Given the description of an element on the screen output the (x, y) to click on. 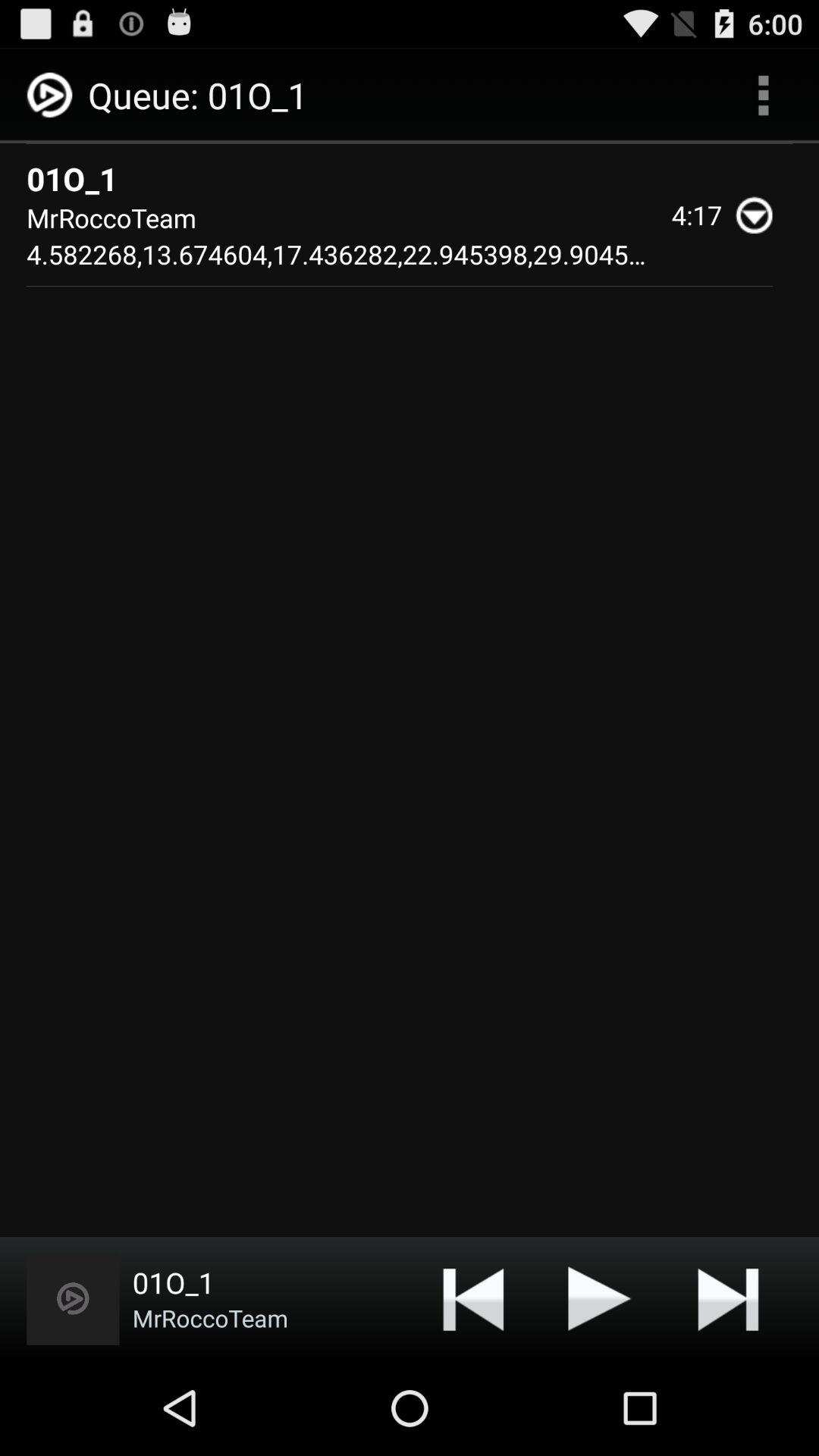
tap app next to the mrroccoteam item (472, 1298)
